Given the description of an element on the screen output the (x, y) to click on. 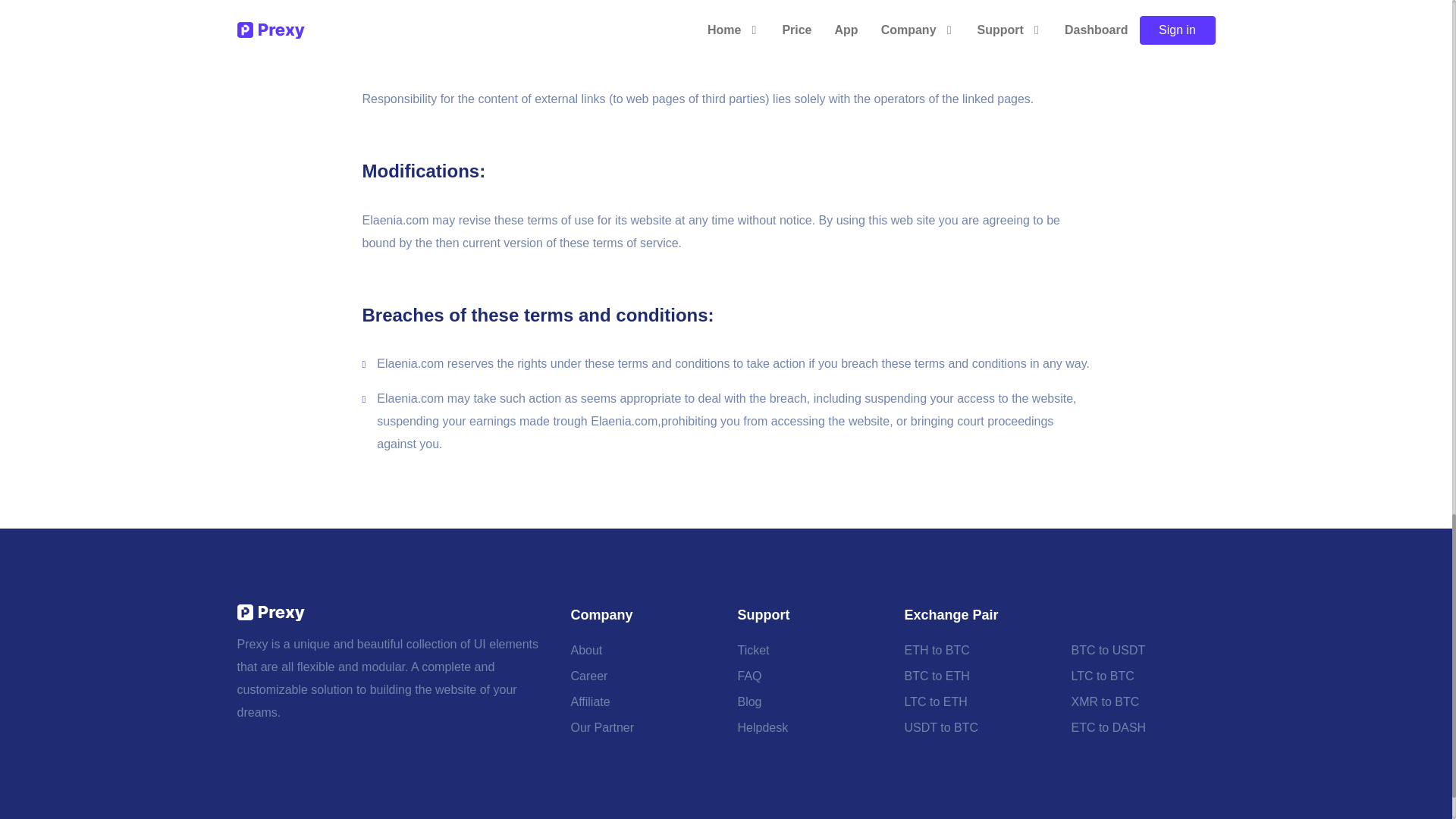
USDT to BTC (941, 728)
LTC to ETH (935, 701)
Affiliate (590, 701)
Blog (748, 701)
XMR to BTC (1104, 701)
Helpdesk (761, 728)
ETC to DASH (1107, 728)
BTC to USDT (1107, 650)
About (586, 650)
Career (588, 676)
